Given the description of an element on the screen output the (x, y) to click on. 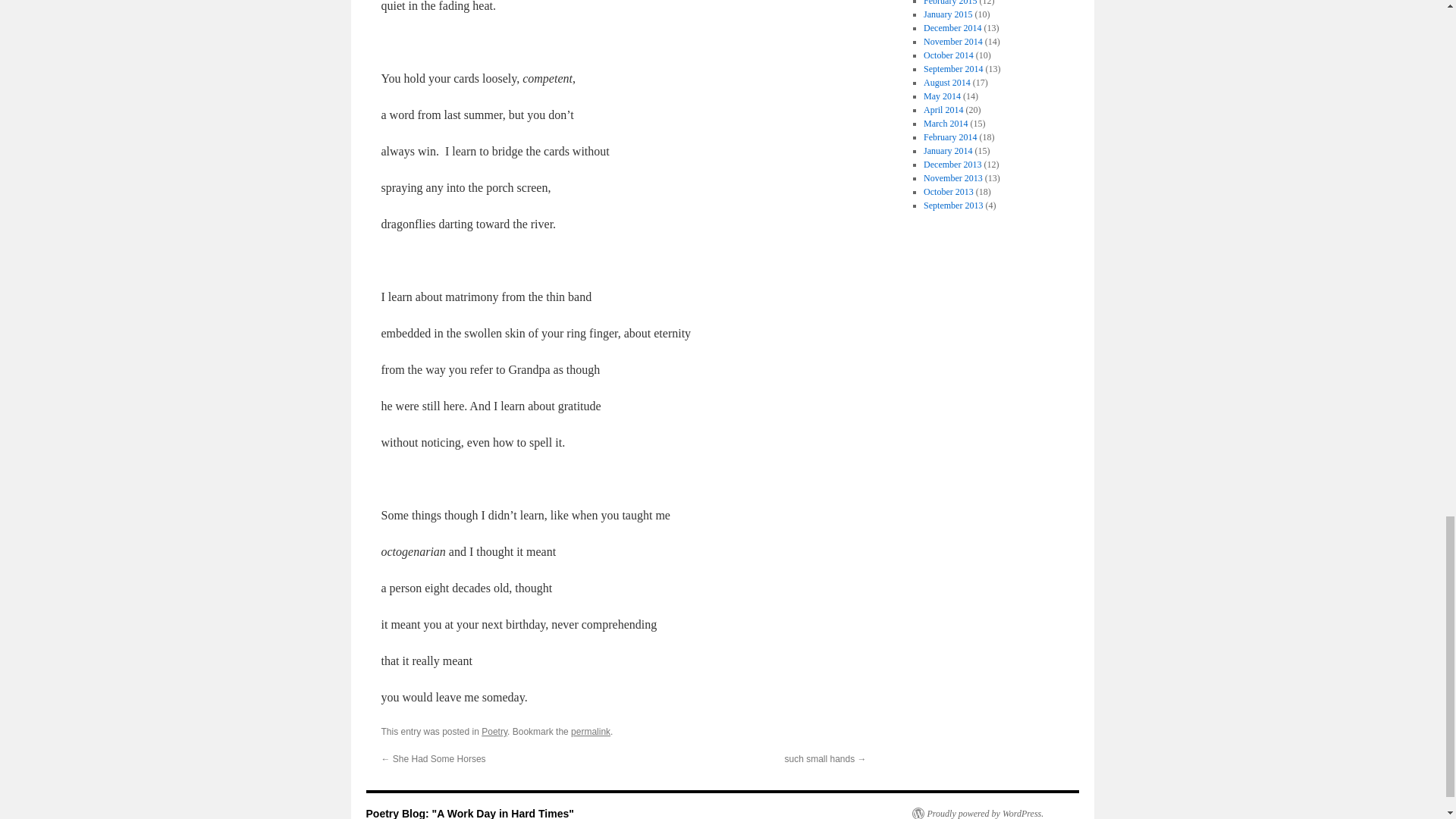
permalink (590, 731)
Poetry (493, 731)
Permalink to Octogenarian (590, 731)
